Given the description of an element on the screen output the (x, y) to click on. 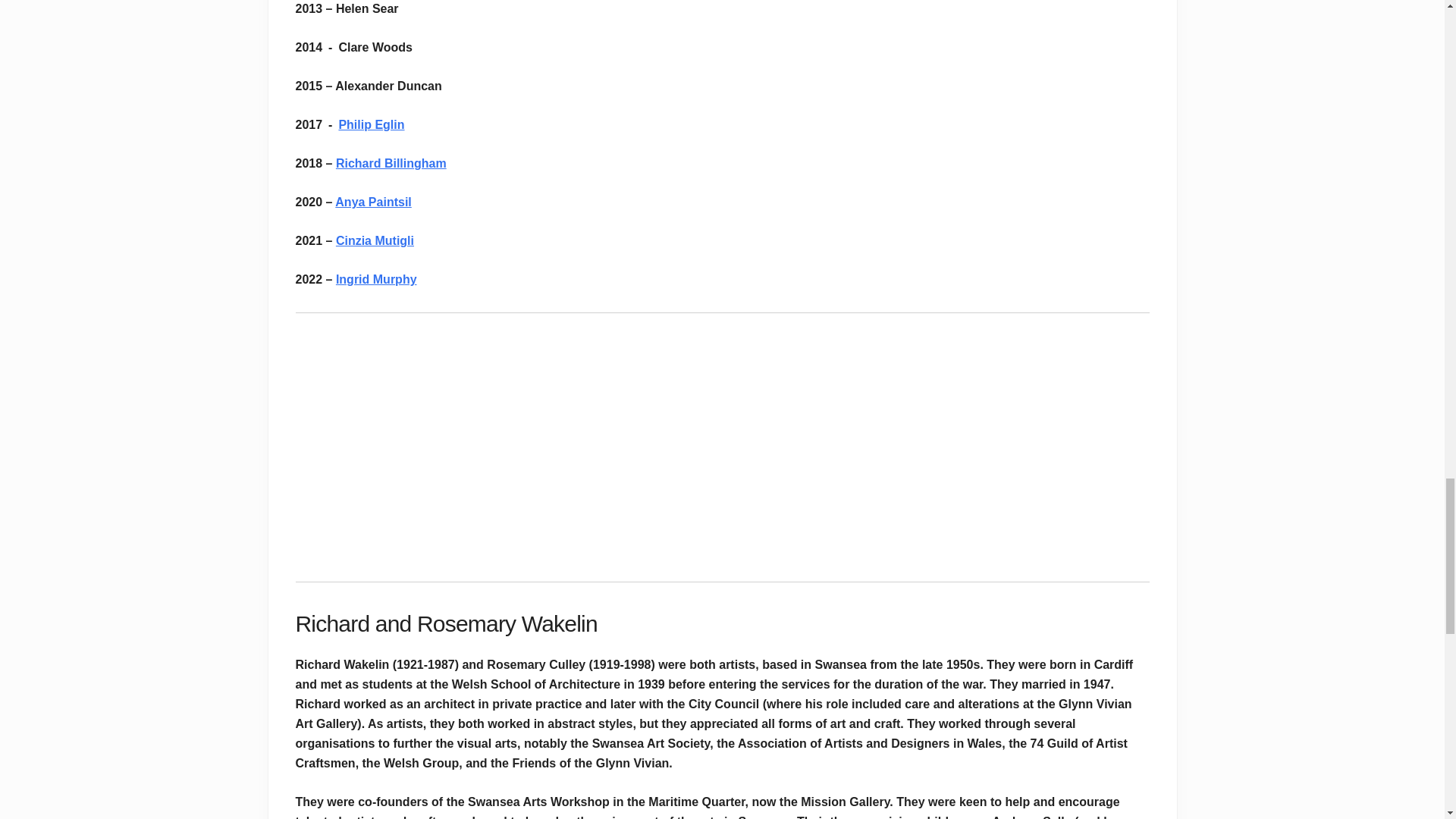
Anya Paintsil: Wakelin Award Recipient 2020 (485, 445)
